Given the description of an element on the screen output the (x, y) to click on. 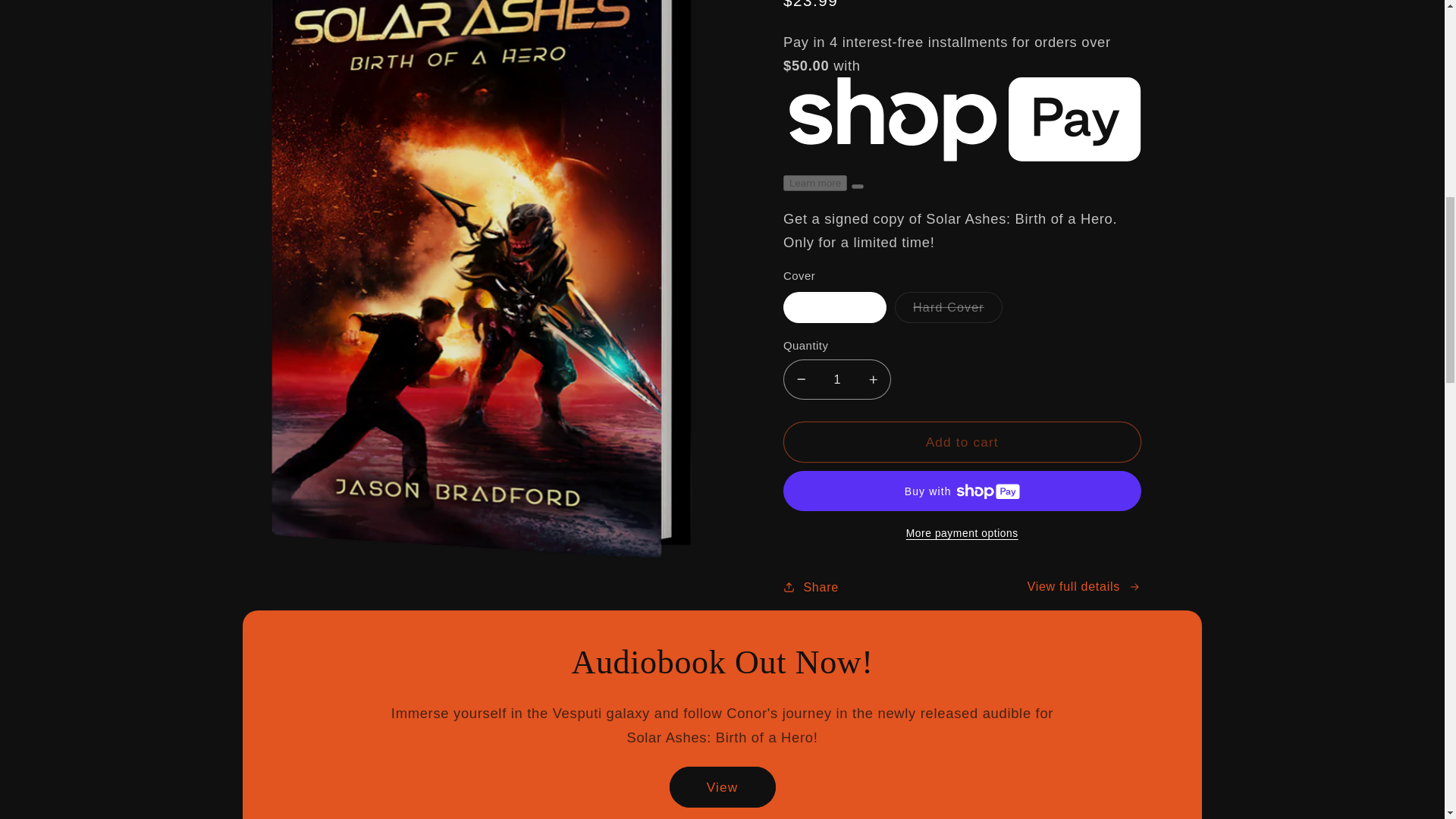
Increase quantity for Solar Ashes: Birth Of A Hero (872, 379)
1 (837, 379)
Add to cart (962, 441)
View full details (1084, 586)
Decrease quantity for Solar Ashes: Birth Of A Hero (801, 379)
More payment options (962, 533)
View (721, 786)
